Given the description of an element on the screen output the (x, y) to click on. 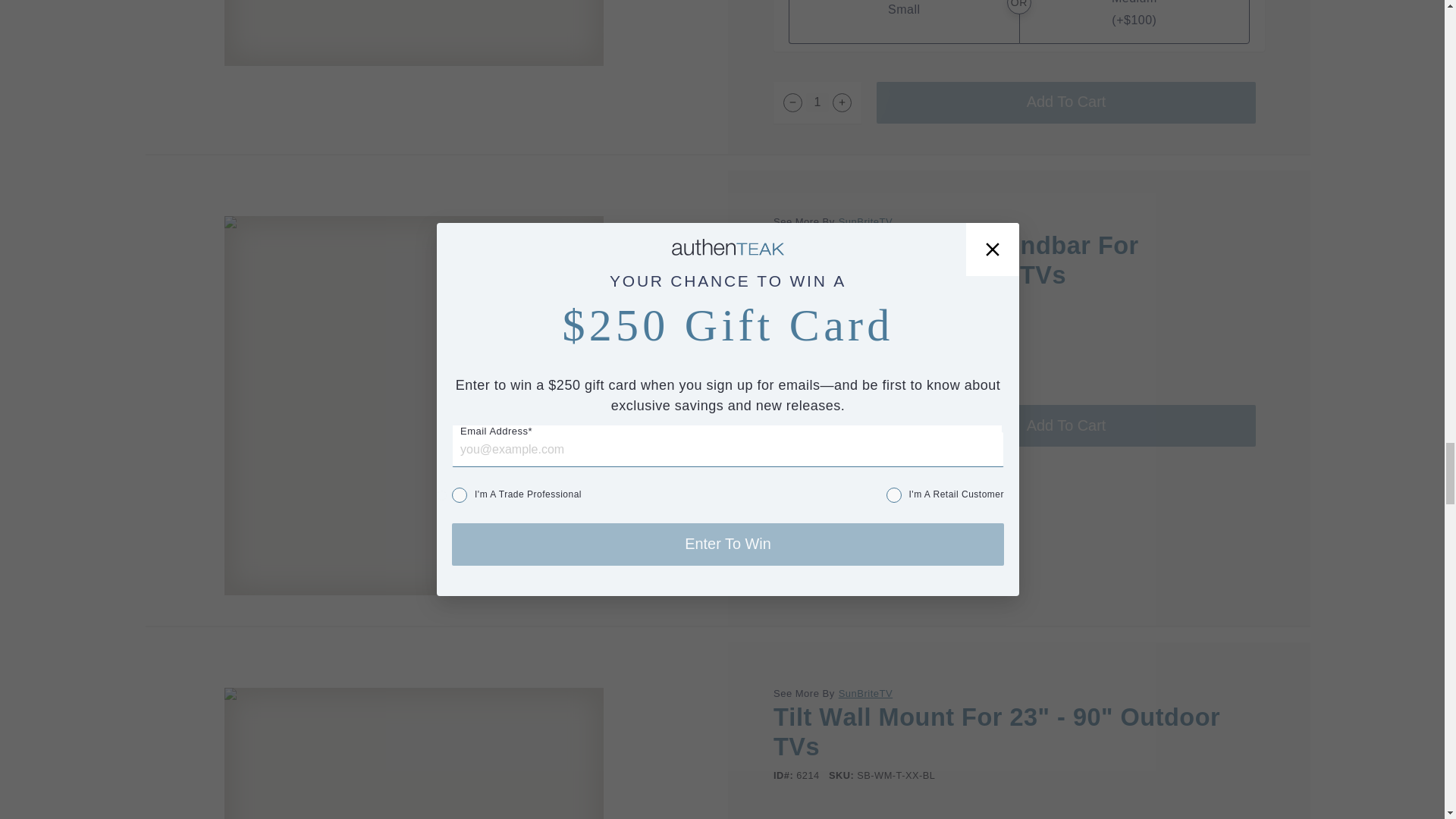
1 (817, 425)
1 (817, 102)
